Given the description of an element on the screen output the (x, y) to click on. 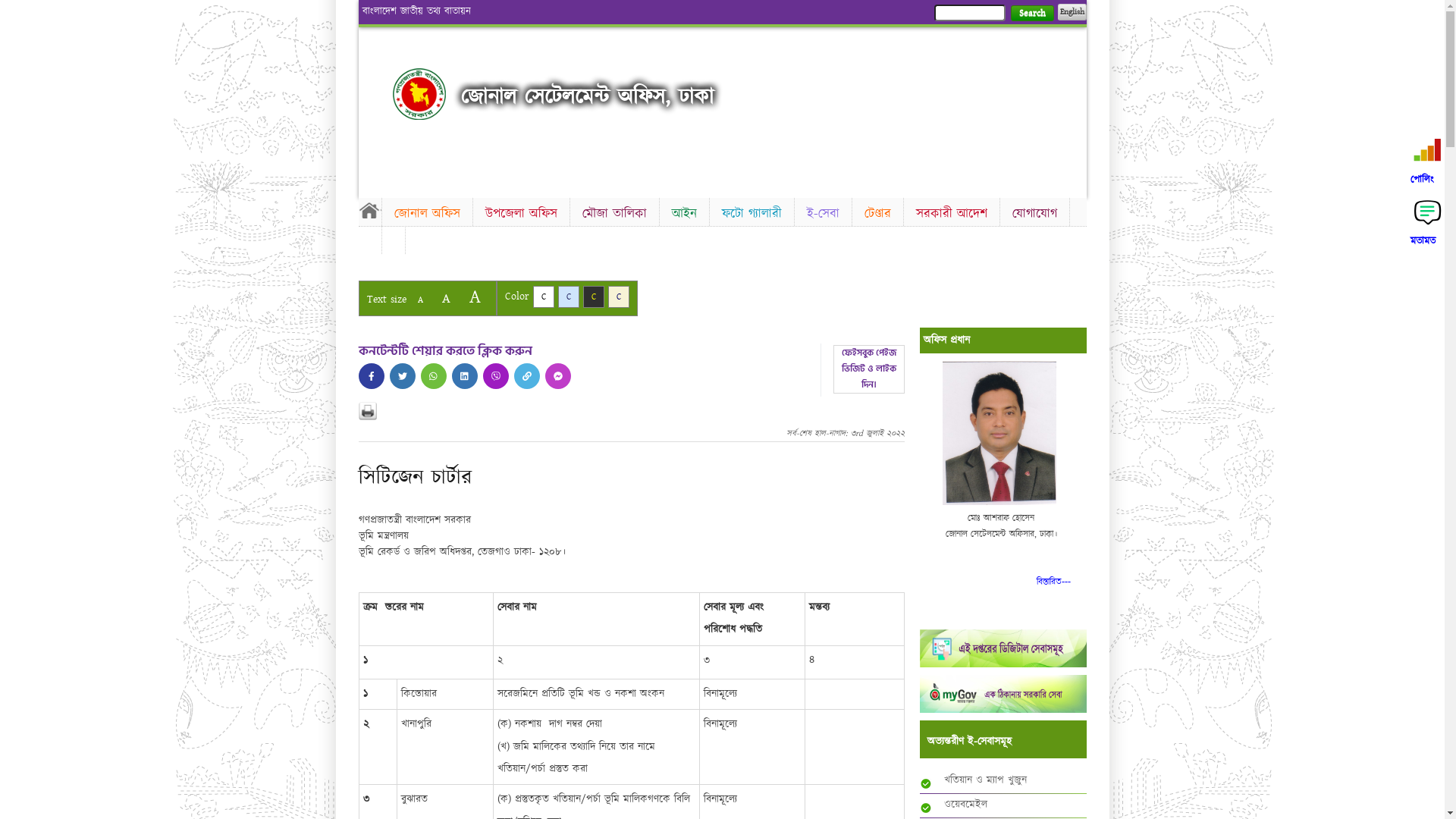
Home Element type: hover (368, 209)
C Element type: text (592, 296)
English Element type: text (1071, 11)
C Element type: text (568, 296)
A Element type: text (419, 299)
C Element type: text (542, 296)
A Element type: text (474, 296)
Search Element type: text (1031, 13)
Home Element type: hover (418, 93)
A Element type: text (445, 298)
C Element type: text (618, 296)
